Given the description of an element on the screen output the (x, y) to click on. 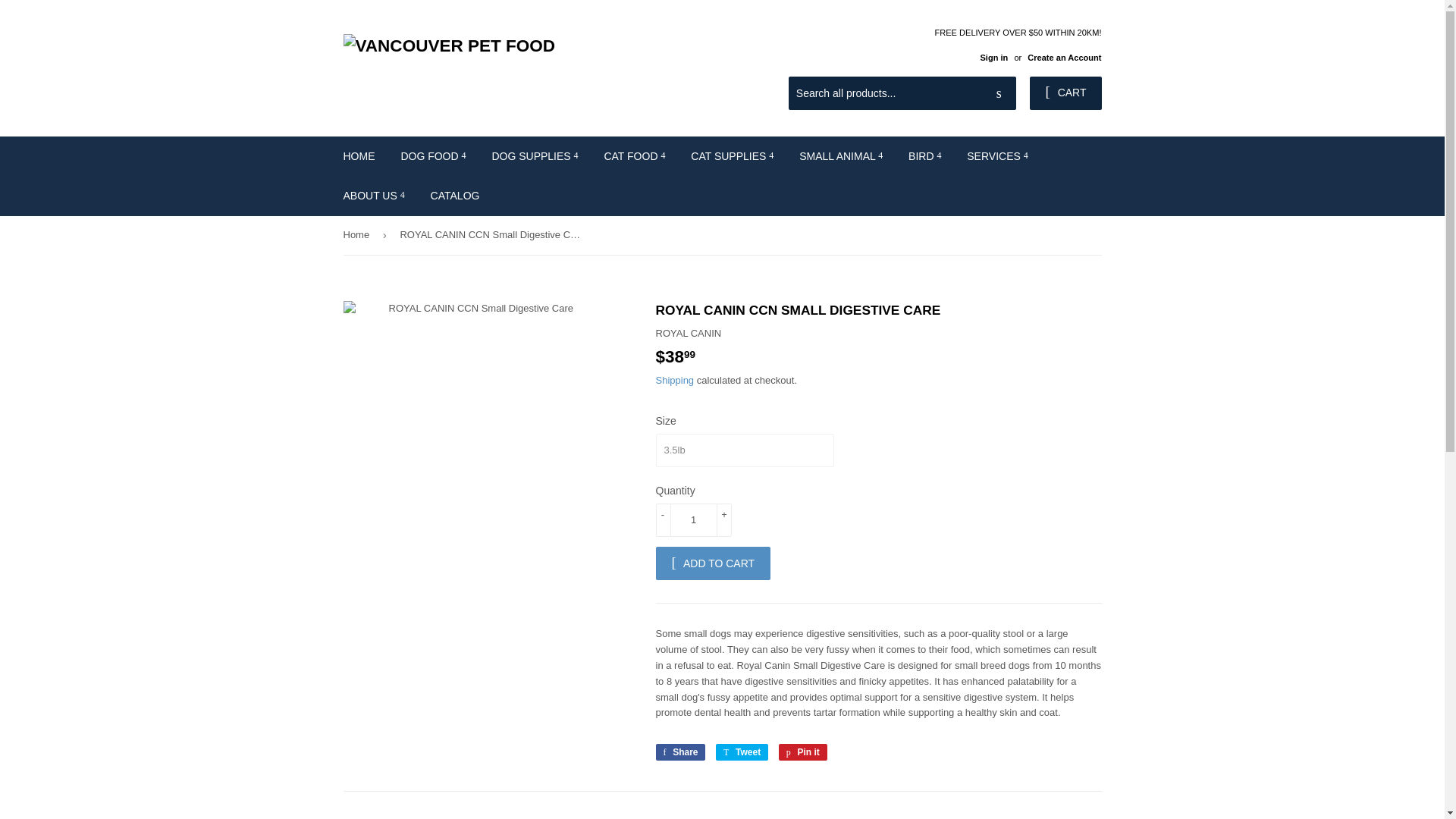
Share on Facebook (679, 751)
Create an Account (1063, 57)
Sign in (993, 57)
Pin on Pinterest (802, 751)
Search (998, 93)
1 (692, 520)
Tweet on Twitter (742, 751)
CART (1064, 92)
